Given the description of an element on the screen output the (x, y) to click on. 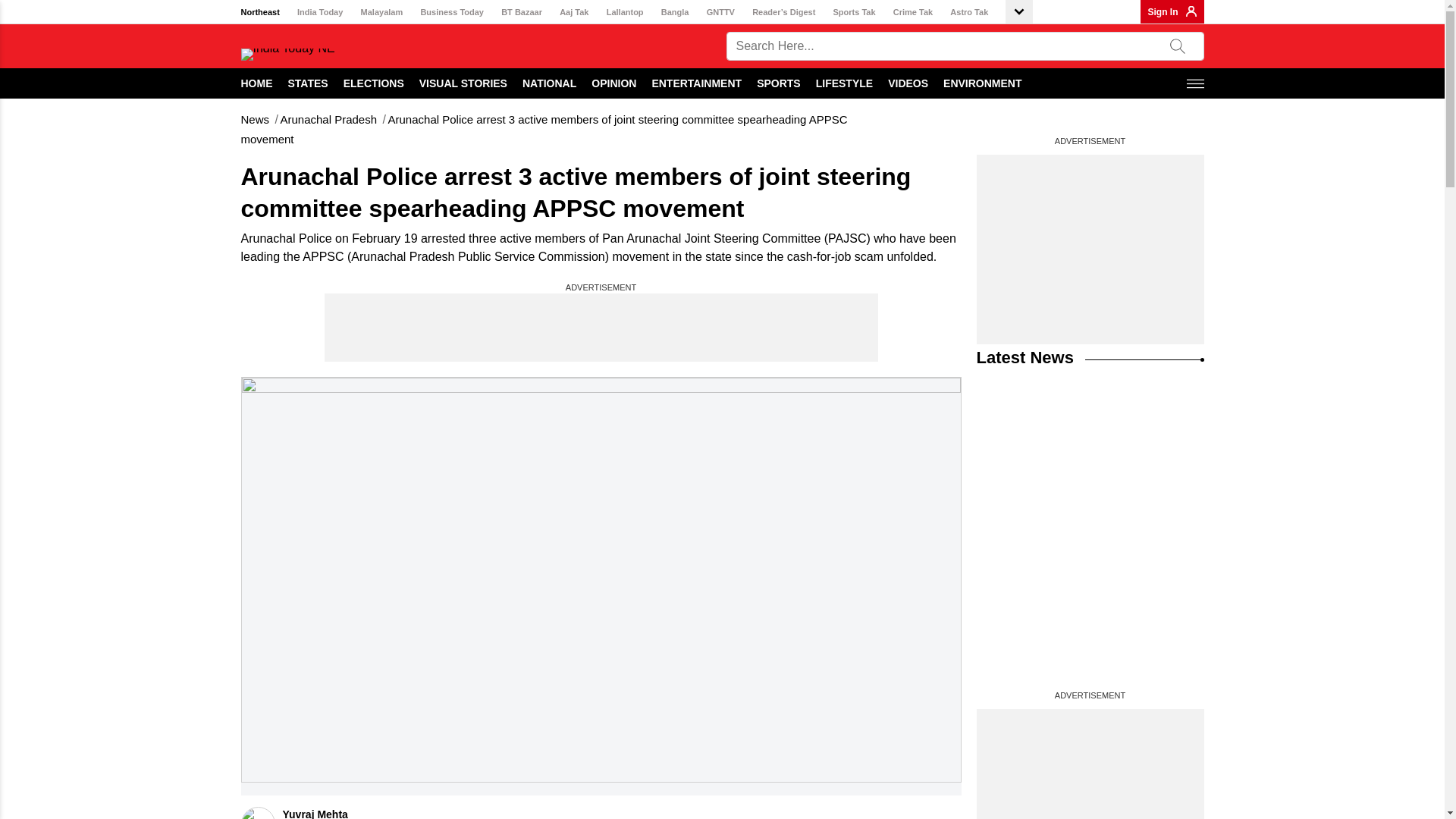
Lallantop (625, 12)
Aaj Tak (573, 12)
Business Today (451, 12)
STATES (308, 82)
Aaj Tak (573, 12)
ENTERTAINMENT (695, 82)
BT Bazaar (520, 12)
BT Bazaar (520, 12)
Northeast (260, 12)
HOME (257, 82)
Astro Tak (969, 12)
VISUAL STORIES (462, 82)
Sports Tak (854, 12)
ELECTIONS (373, 82)
NATIONAL (549, 82)
